Given the description of an element on the screen output the (x, y) to click on. 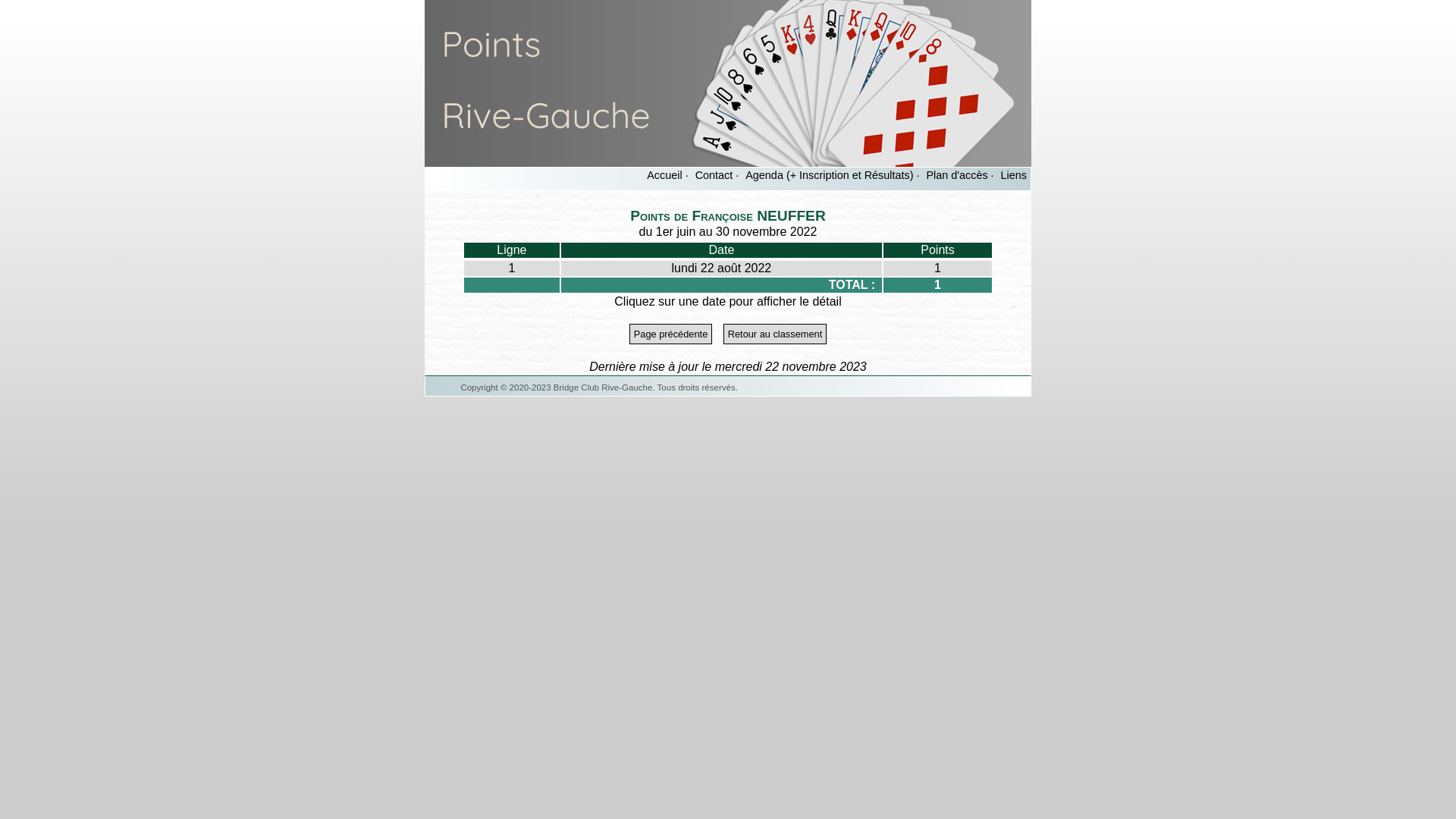
Liens Element type: text (1013, 175)
Contact Element type: text (714, 175)
Accueil Element type: text (663, 175)
Retour au classement Element type: text (774, 333)
